Given the description of an element on the screen output the (x, y) to click on. 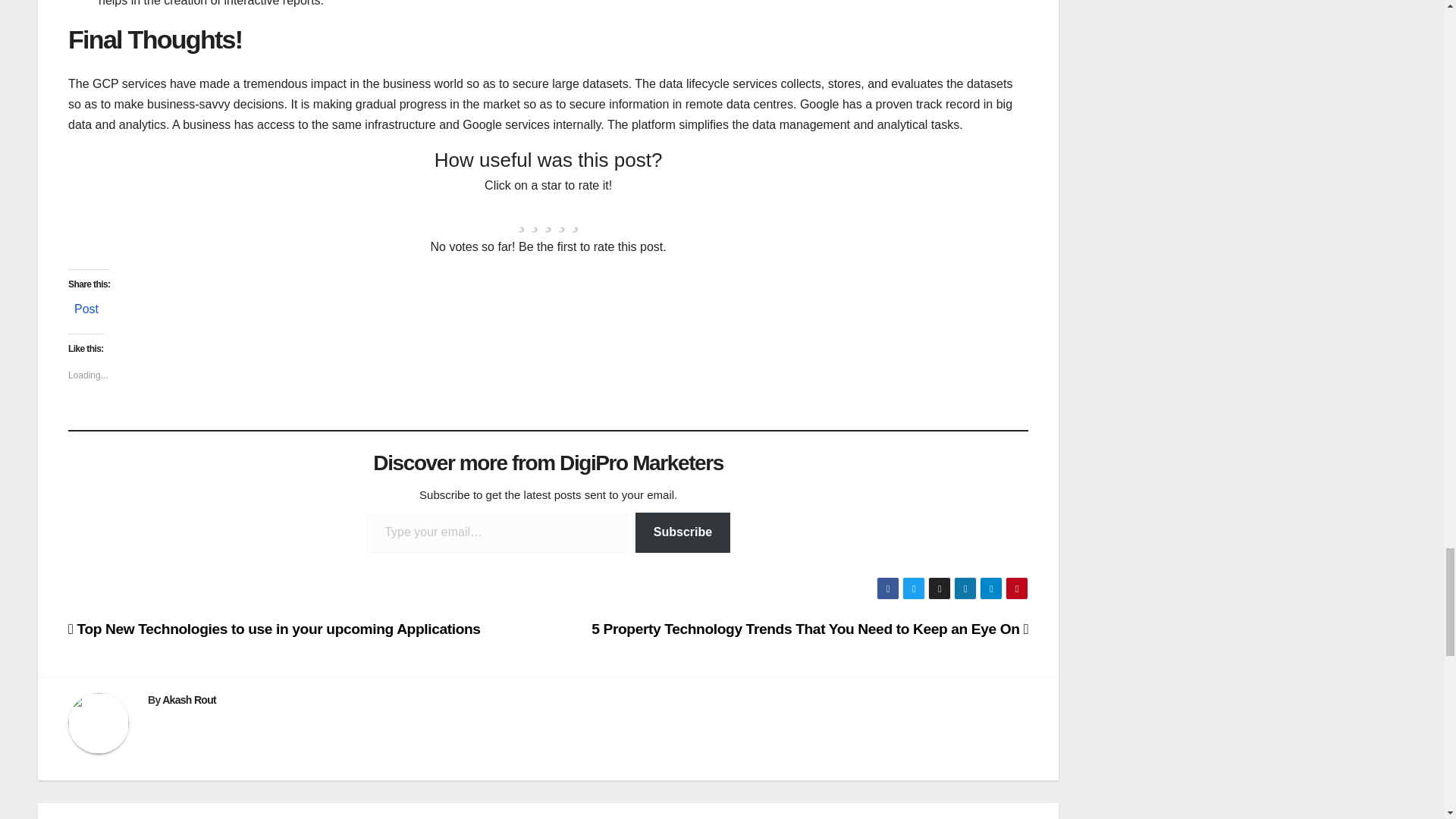
Please fill in this field. (496, 532)
Post (86, 305)
Subscribe (682, 532)
